Given the description of an element on the screen output the (x, y) to click on. 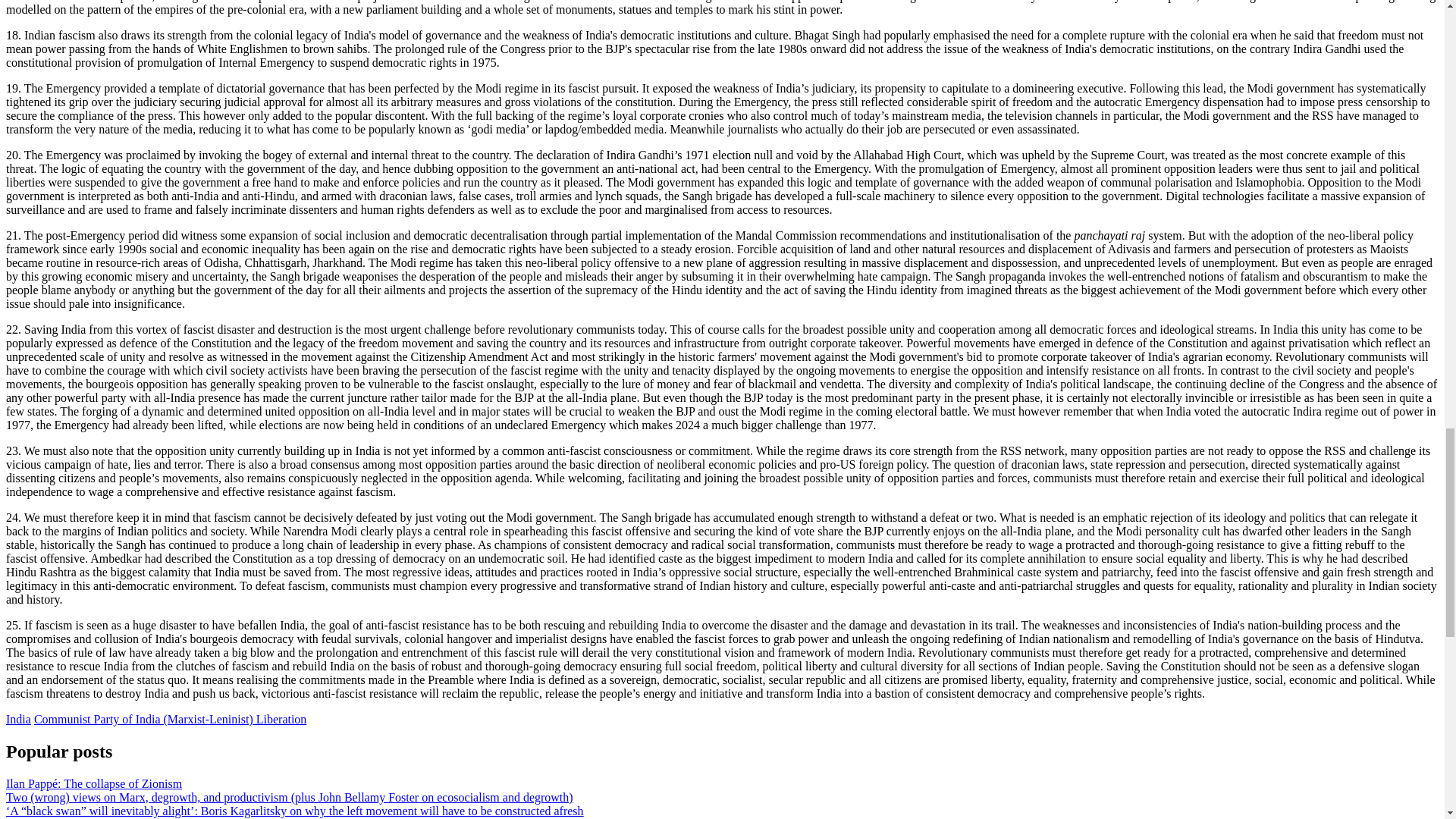
India (17, 718)
